Given the description of an element on the screen output the (x, y) to click on. 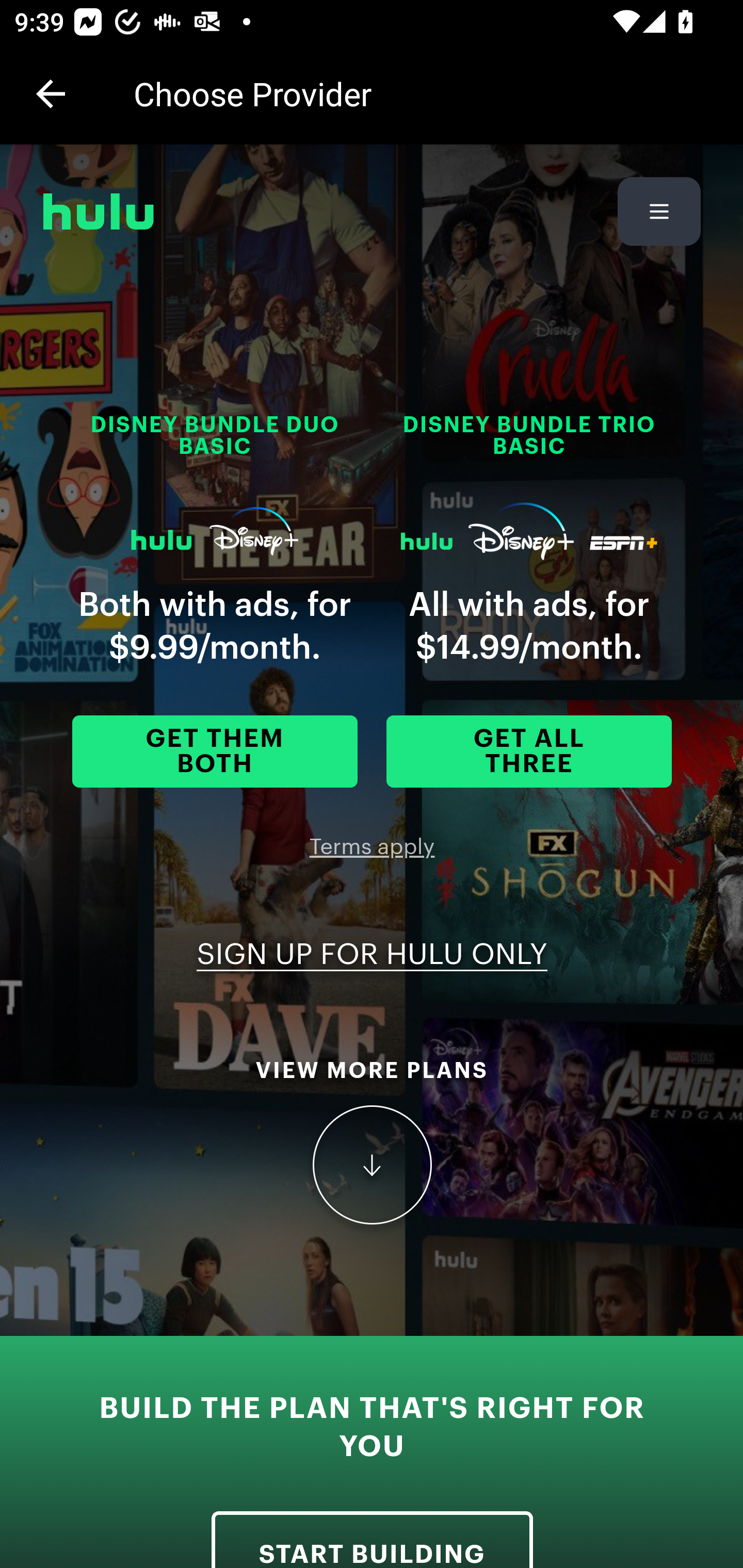
Navigate up (50, 93)
DISNEY BUNDLE DUO BASIC (215, 449)
DISNEY BUNDLE TRIO BASIC (529, 449)
Both with ads, for $9.99/month. (215, 626)
All with ads, for $14.99/month. (529, 626)
GET THEM BOTH (215, 751)
GET ALL THREE (529, 751)
Click to see terms. (371, 847)
SIGN UP FOR HULU ONLY (371, 955)
View More Plans (371, 1165)
START BUILDING (371, 1538)
